Given the description of an element on the screen output the (x, y) to click on. 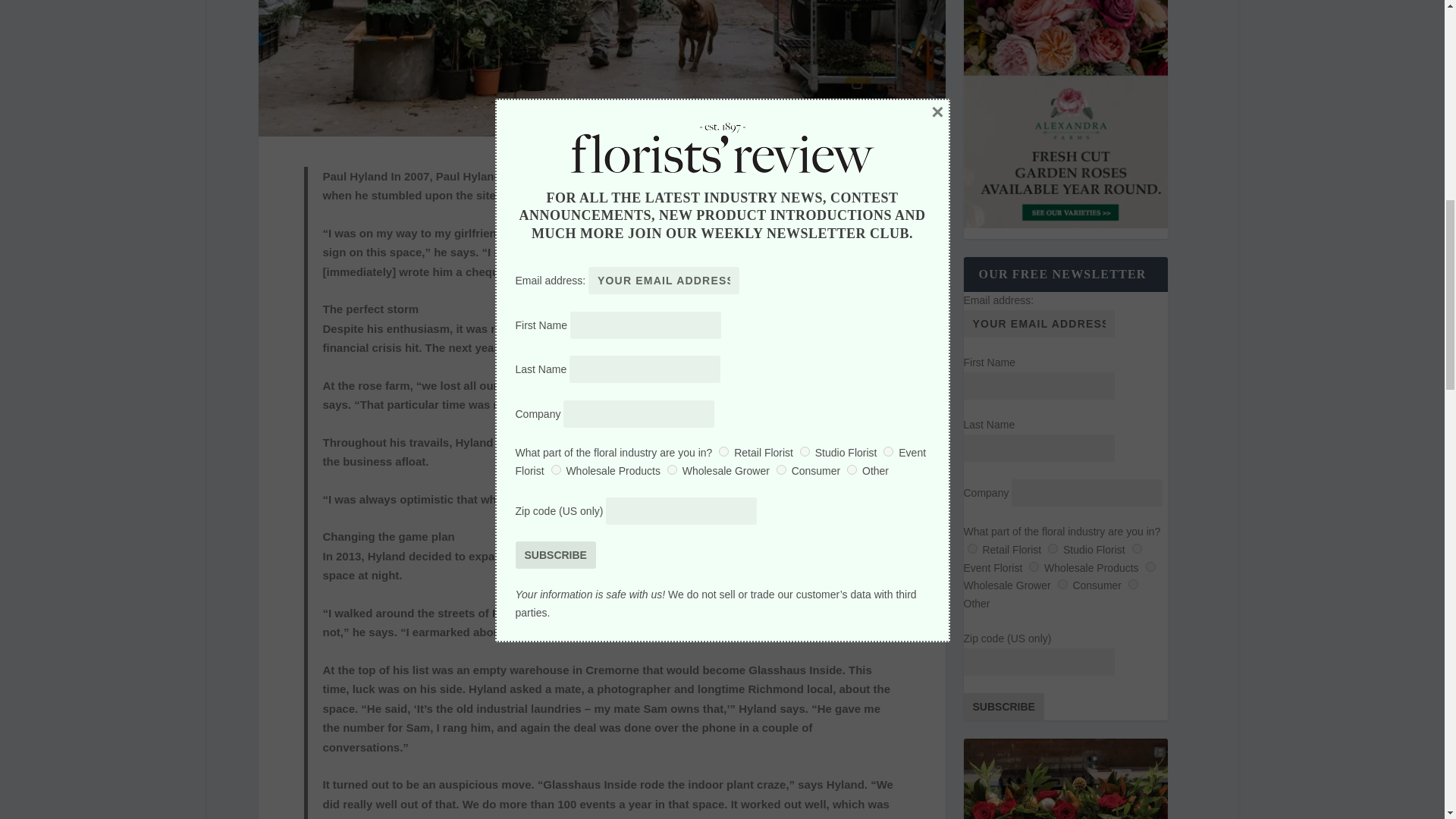
Retail Florist (972, 548)
